Given the description of an element on the screen output the (x, y) to click on. 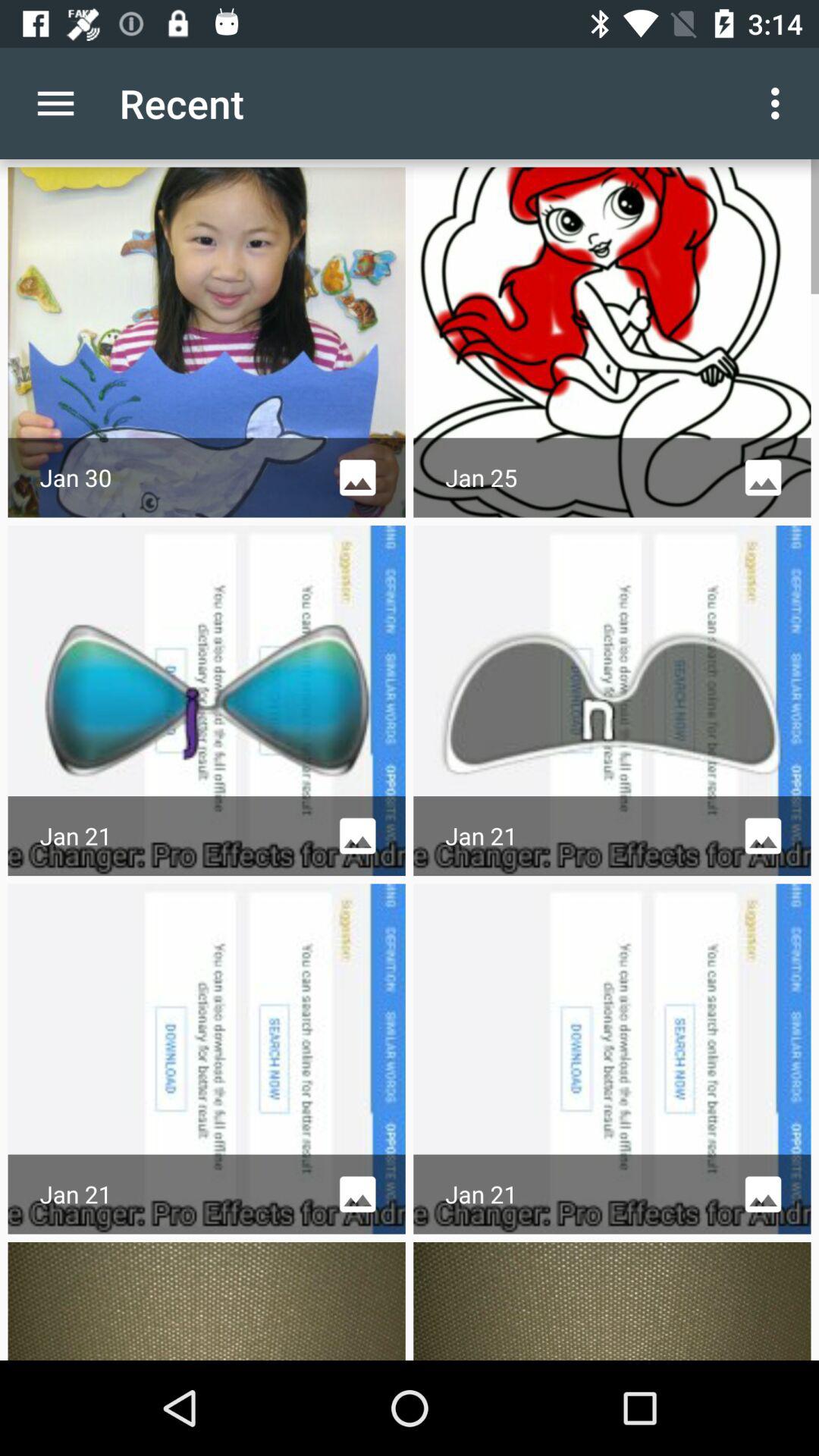
click icon next to the recent app (55, 103)
